Given the description of an element on the screen output the (x, y) to click on. 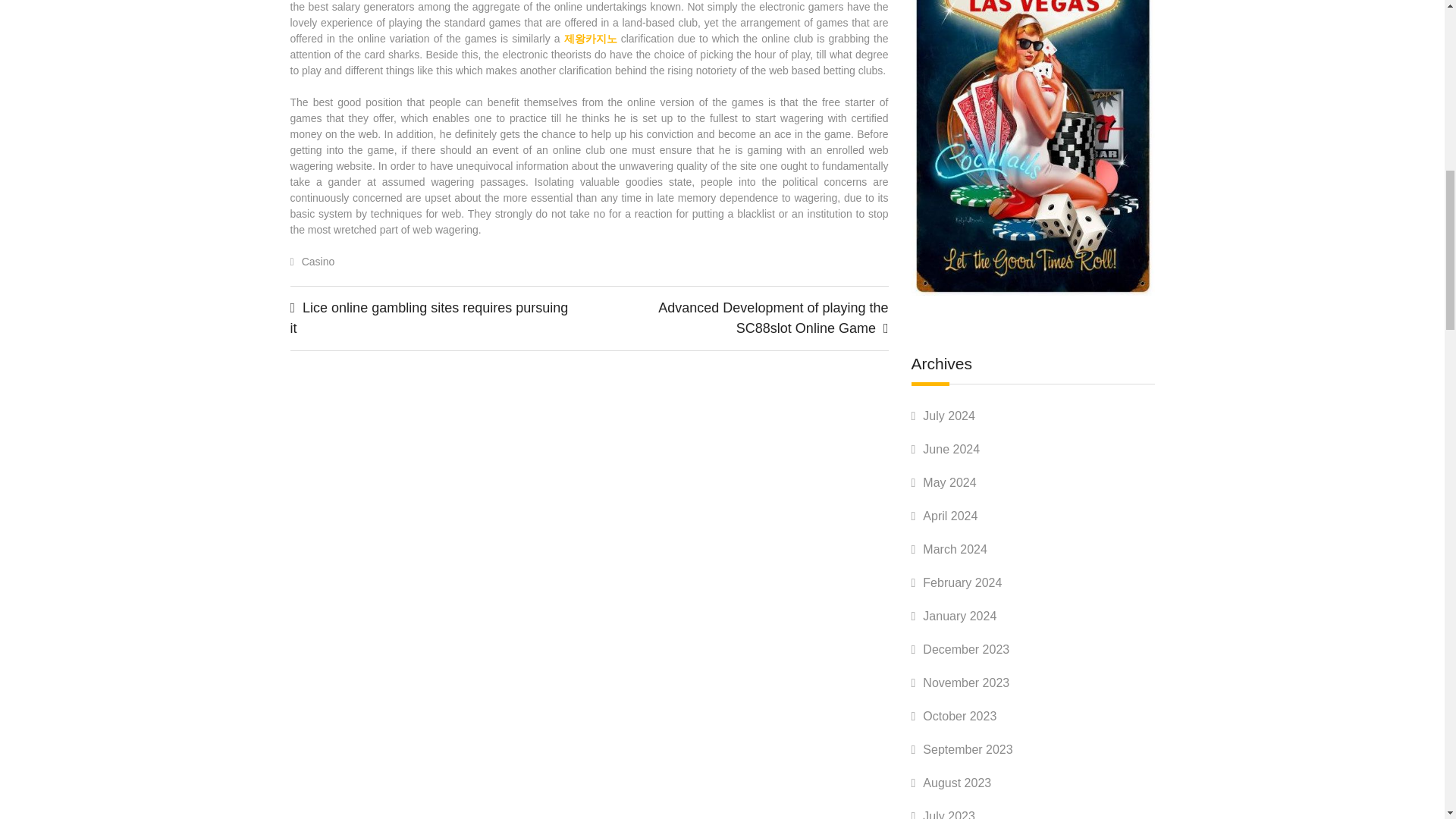
April 2024 (949, 515)
August 2023 (957, 782)
November 2023 (966, 682)
Lice online gambling sites requires pursuing it (428, 317)
March 2024 (955, 549)
June 2024 (951, 449)
December 2023 (966, 649)
July 2023 (949, 814)
January 2024 (959, 615)
Casino (317, 261)
May 2024 (949, 481)
July 2024 (949, 415)
Advanced Development of playing the SC88slot Online Game (773, 317)
February 2024 (962, 582)
October 2023 (959, 716)
